Given the description of an element on the screen output the (x, y) to click on. 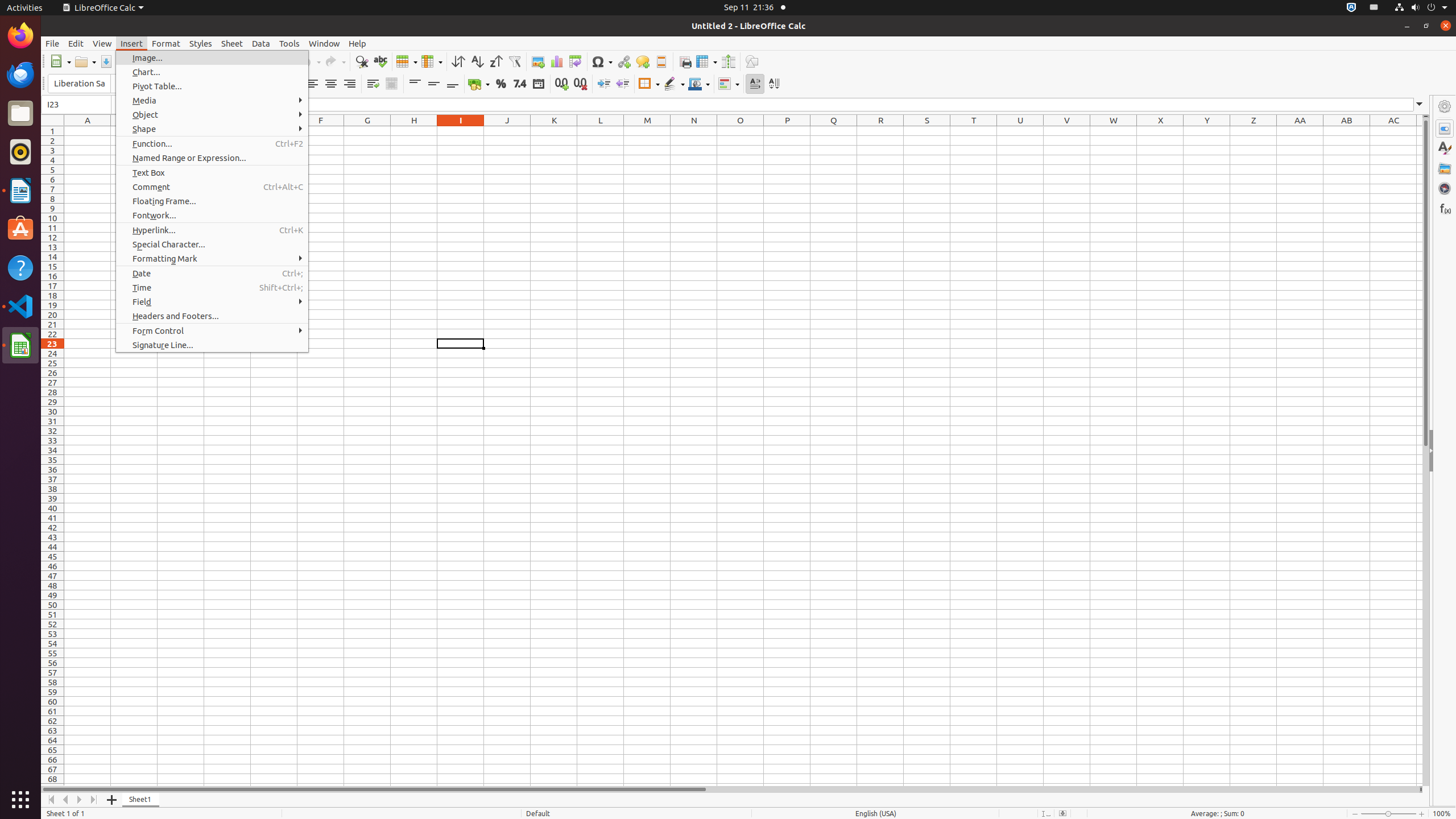
Insert Element type: menu (131, 43)
Sheet1 Element type: page-tab (140, 799)
Comment Element type: menu-item (212, 186)
Column Element type: push-button (431, 61)
Gallery Element type: radio-button (1444, 168)
